Given the description of an element on the screen output the (x, y) to click on. 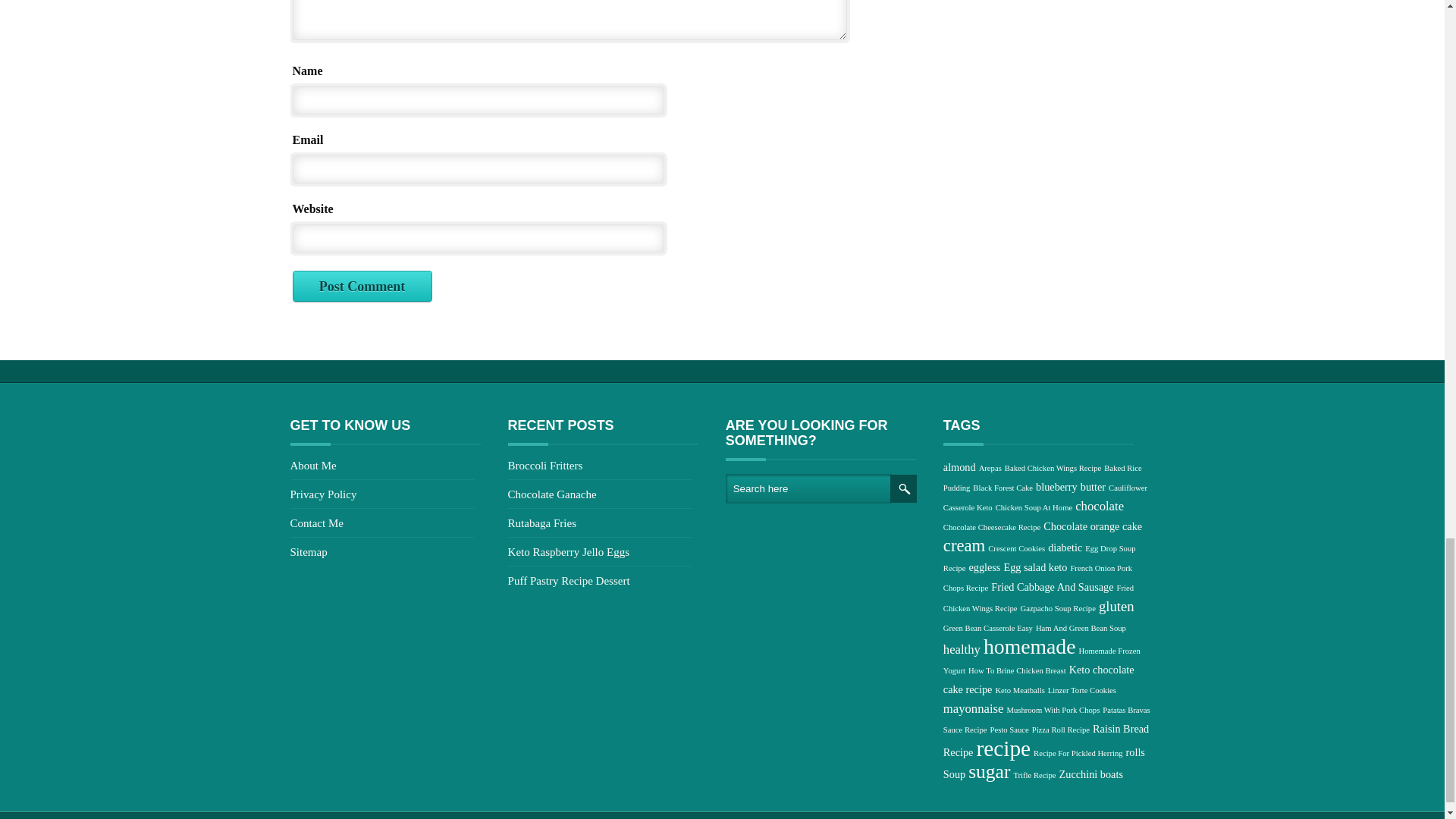
Search here (808, 488)
SEARCH (903, 488)
Post Comment (362, 287)
Post Comment (362, 287)
